Given the description of an element on the screen output the (x, y) to click on. 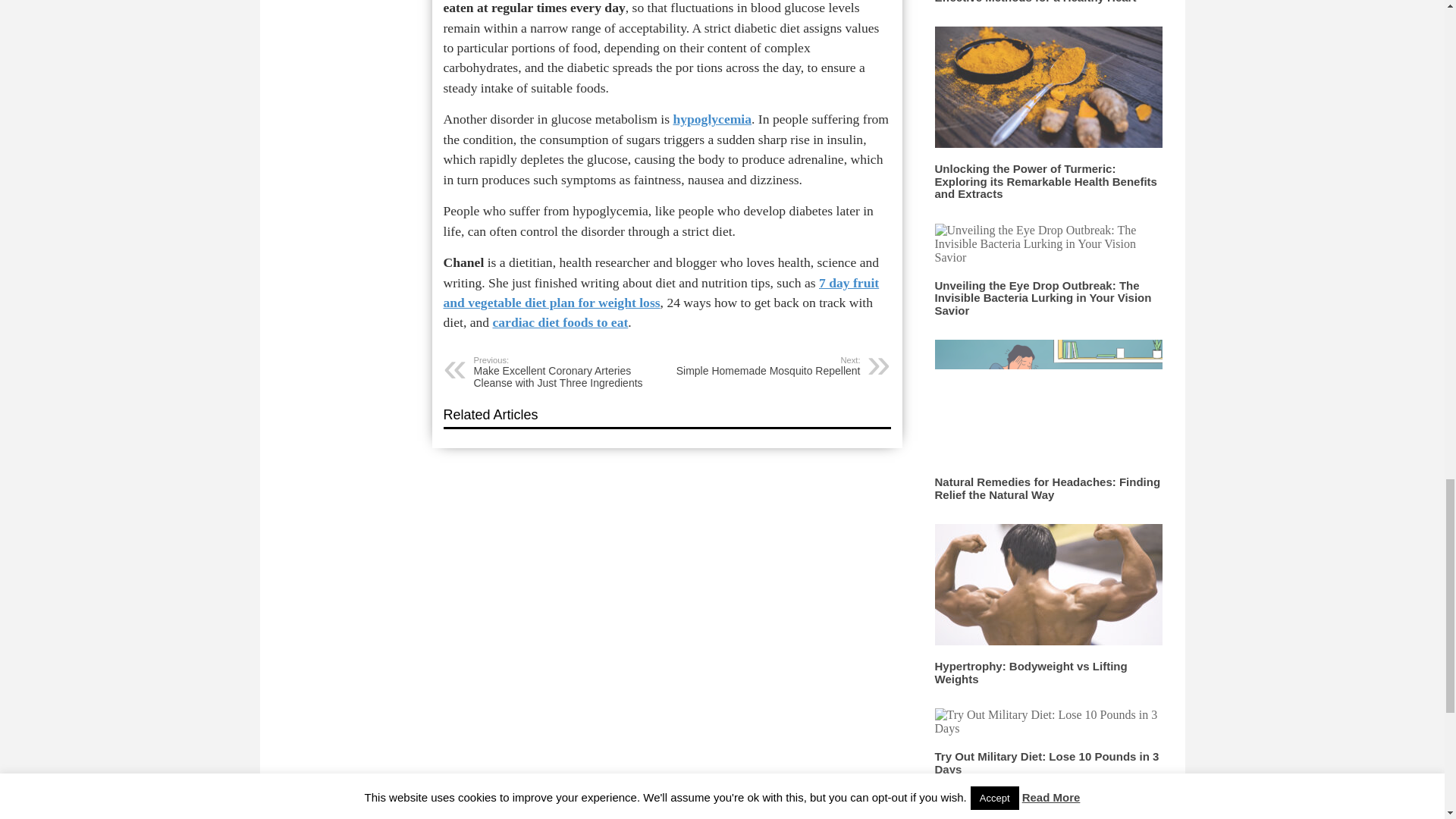
Try Out Military Diet: Lose 10 Pounds in 3 Days (764, 365)
7 day fruit and vegetable diet plan for weight loss (1046, 762)
cardiac diet foods to eat (660, 292)
Hypertrophy: Bodyweight vs Lifting Weights (559, 322)
hypoglycemia (1030, 672)
